Given the description of an element on the screen output the (x, y) to click on. 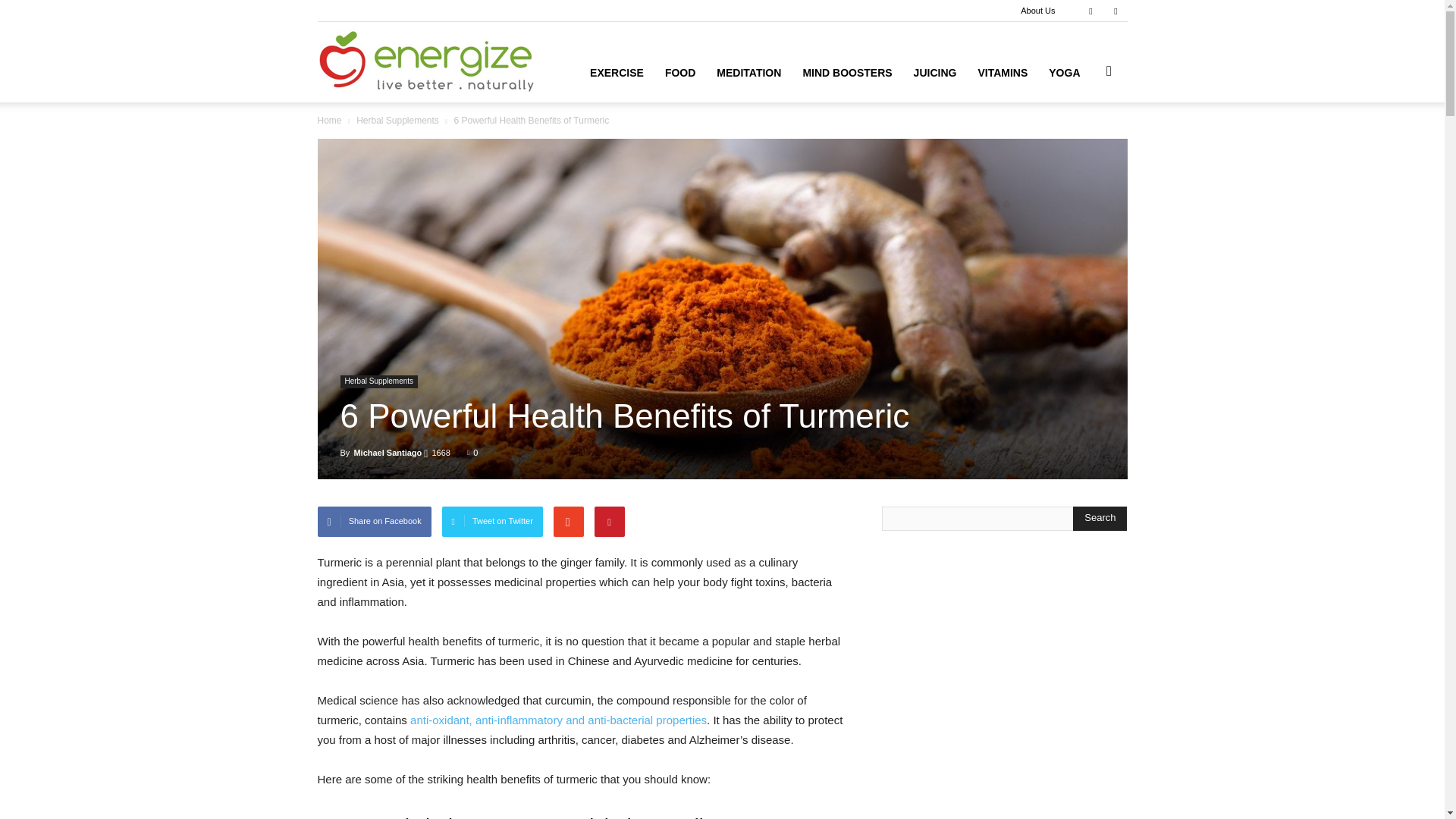
MIND BOOSTERS (847, 72)
YOGA (1064, 72)
Search (1085, 144)
0 (472, 452)
MEDITATION (749, 72)
About Us (1037, 10)
Share on Facebook (373, 521)
Herbal Supplements (397, 120)
Twitter (1114, 10)
Facebook (1090, 10)
EXERCISE (616, 72)
JUICING (935, 72)
FOOD (679, 72)
